Given the description of an element on the screen output the (x, y) to click on. 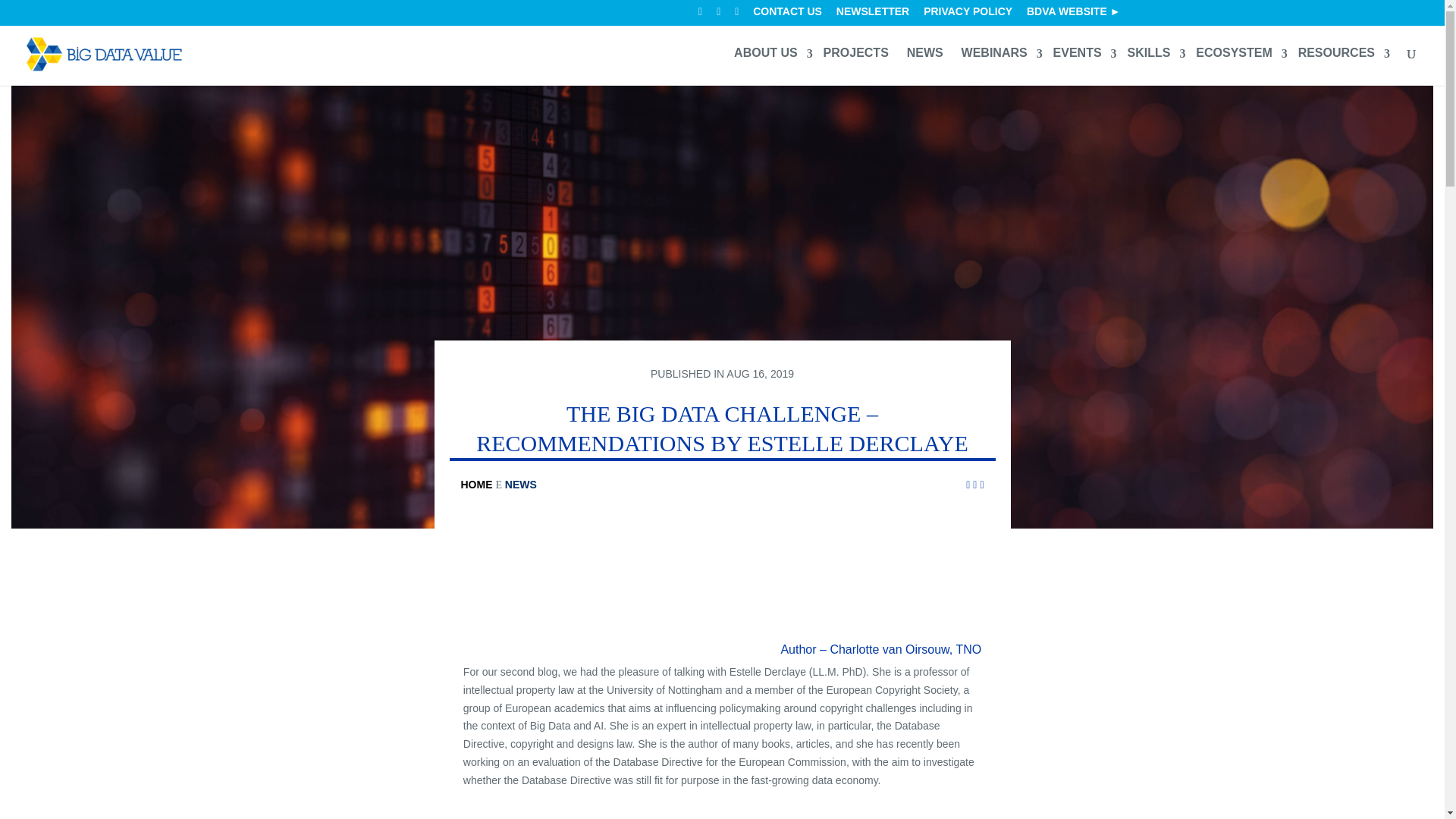
PRIVACY POLICY (967, 15)
SKILLS (1152, 57)
RESOURCES (1340, 57)
WEBINARS (997, 57)
NEWS (924, 57)
NEWSLETTER (871, 15)
PROJECTS (855, 57)
ABOUT US (769, 57)
CONTACT US (787, 15)
EVENTS (1080, 57)
